Given the description of an element on the screen output the (x, y) to click on. 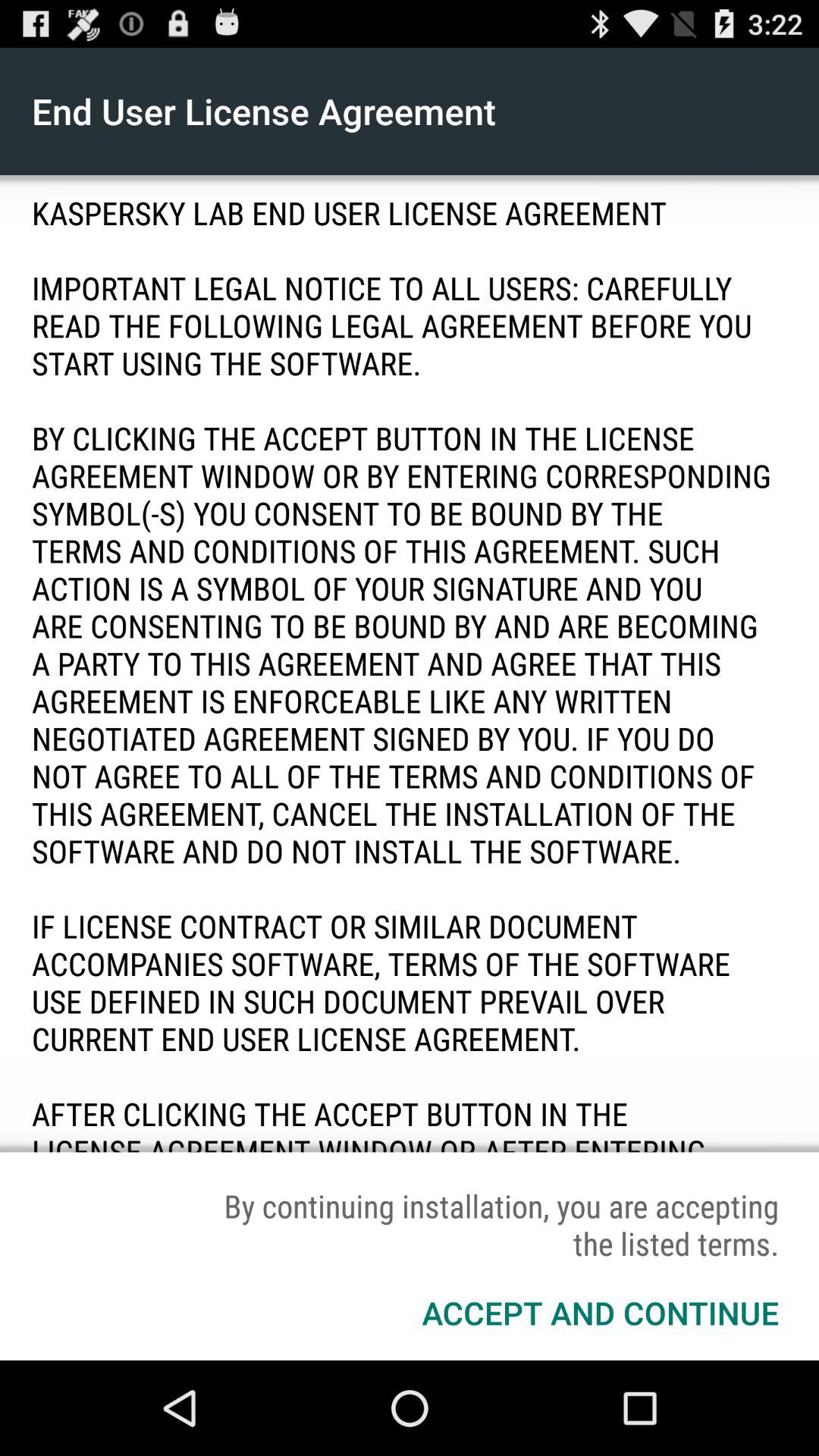
tap the item below the by continuing installation icon (600, 1312)
